Given the description of an element on the screen output the (x, y) to click on. 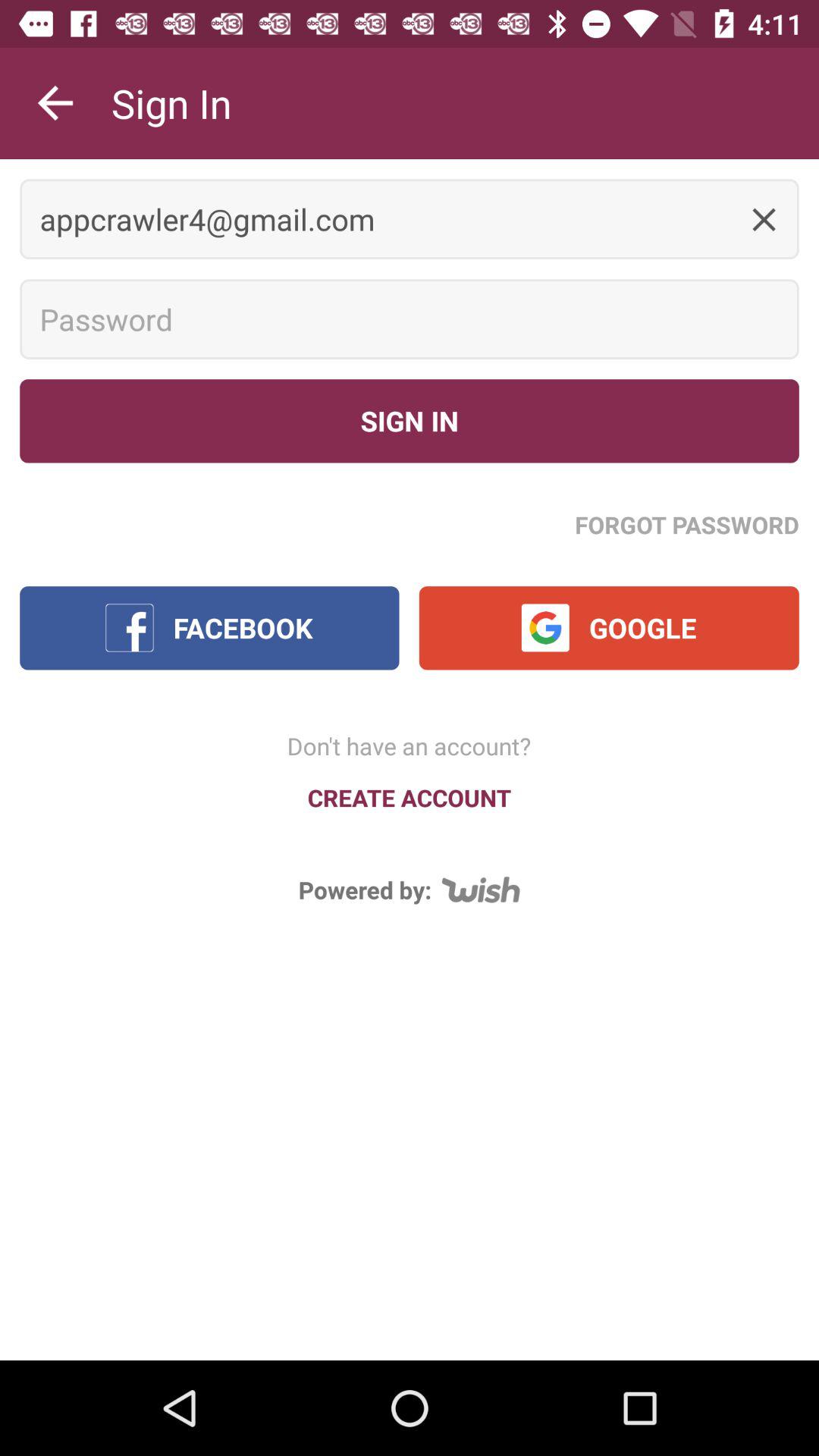
open the item above the powered by: (409, 797)
